Given the description of an element on the screen output the (x, y) to click on. 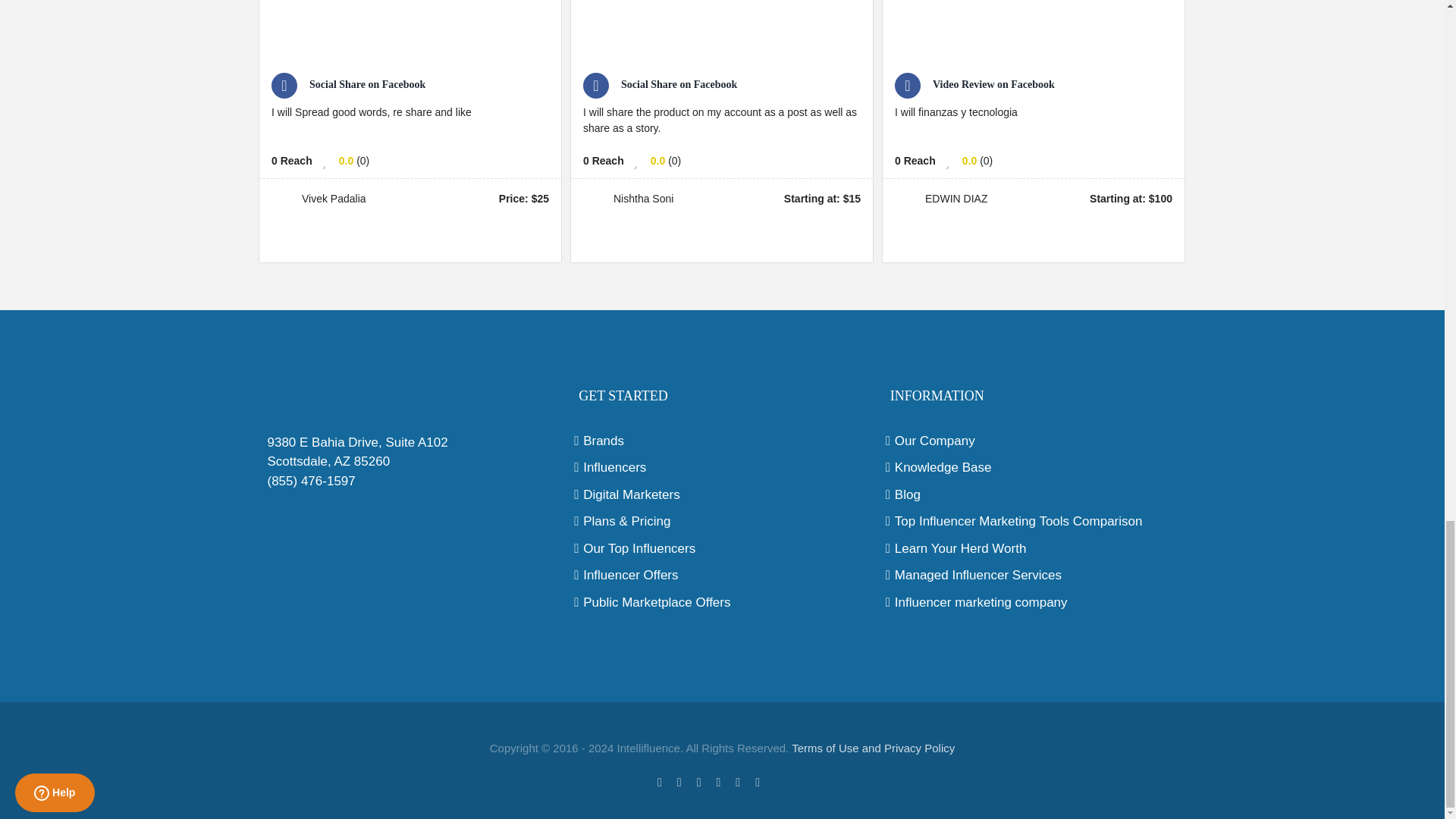
Managed Influencer Services (1034, 575)
Our Top Influencers (722, 548)
Our Company (1034, 441)
Star rating out of 5 (969, 160)
Terms of Use and Privacy Policy (873, 748)
Digital Marketers (722, 495)
Blog (1034, 495)
Brands (722, 441)
Knowledge Base (1034, 467)
Top Influencer Marketing Tools Comparison (1034, 521)
